Given the description of an element on the screen output the (x, y) to click on. 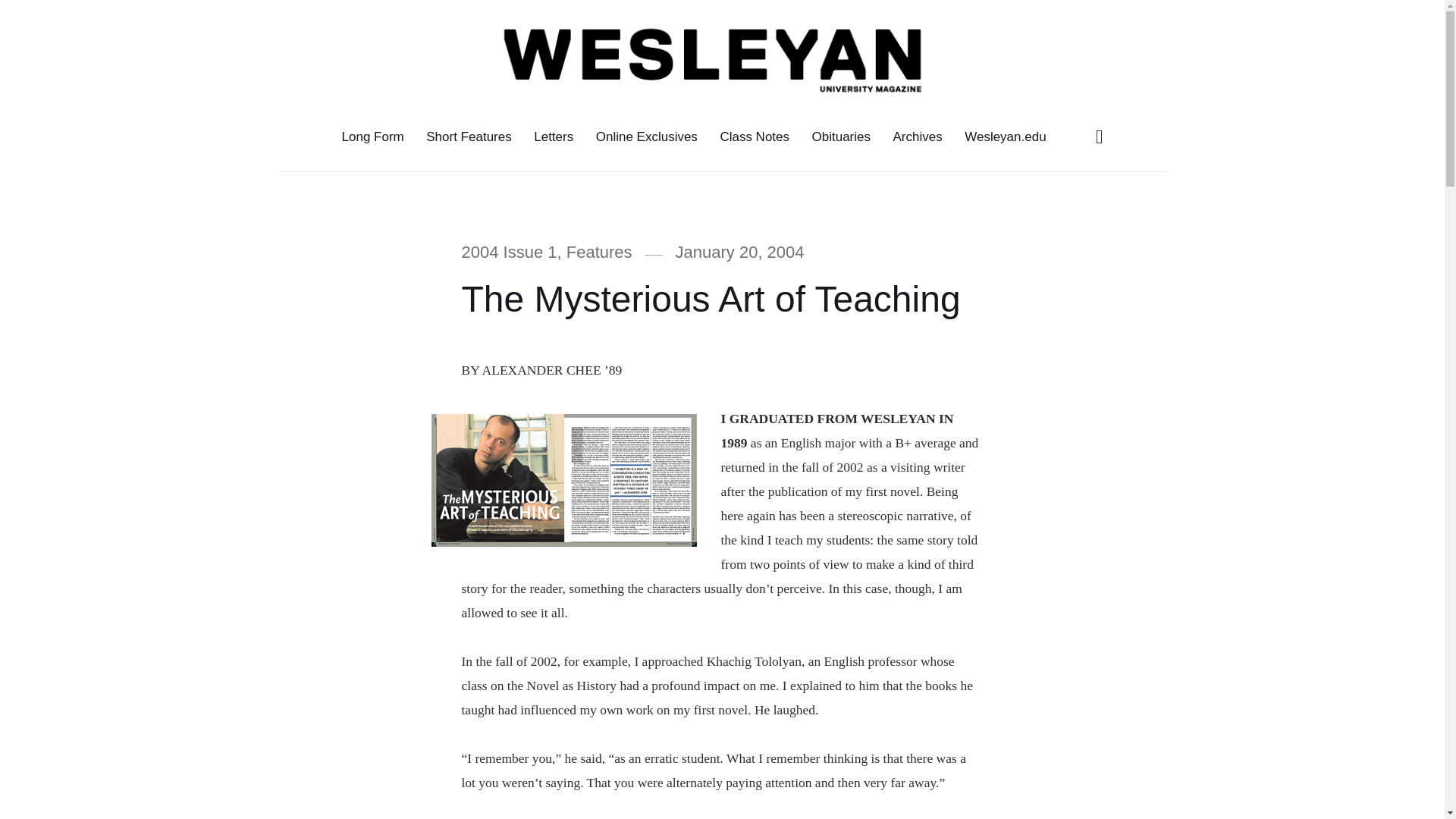
Obituaries (841, 137)
Class Notes (754, 137)
Wesleyan.edu (1005, 137)
2004 Issue 1 (508, 251)
WESLEYAN UNIVERSITY MAGAZINE (382, 58)
Features (598, 251)
Short Features (468, 137)
Archives (917, 137)
Online Exclusives (646, 137)
Long Form (372, 137)
